Given the description of an element on the screen output the (x, y) to click on. 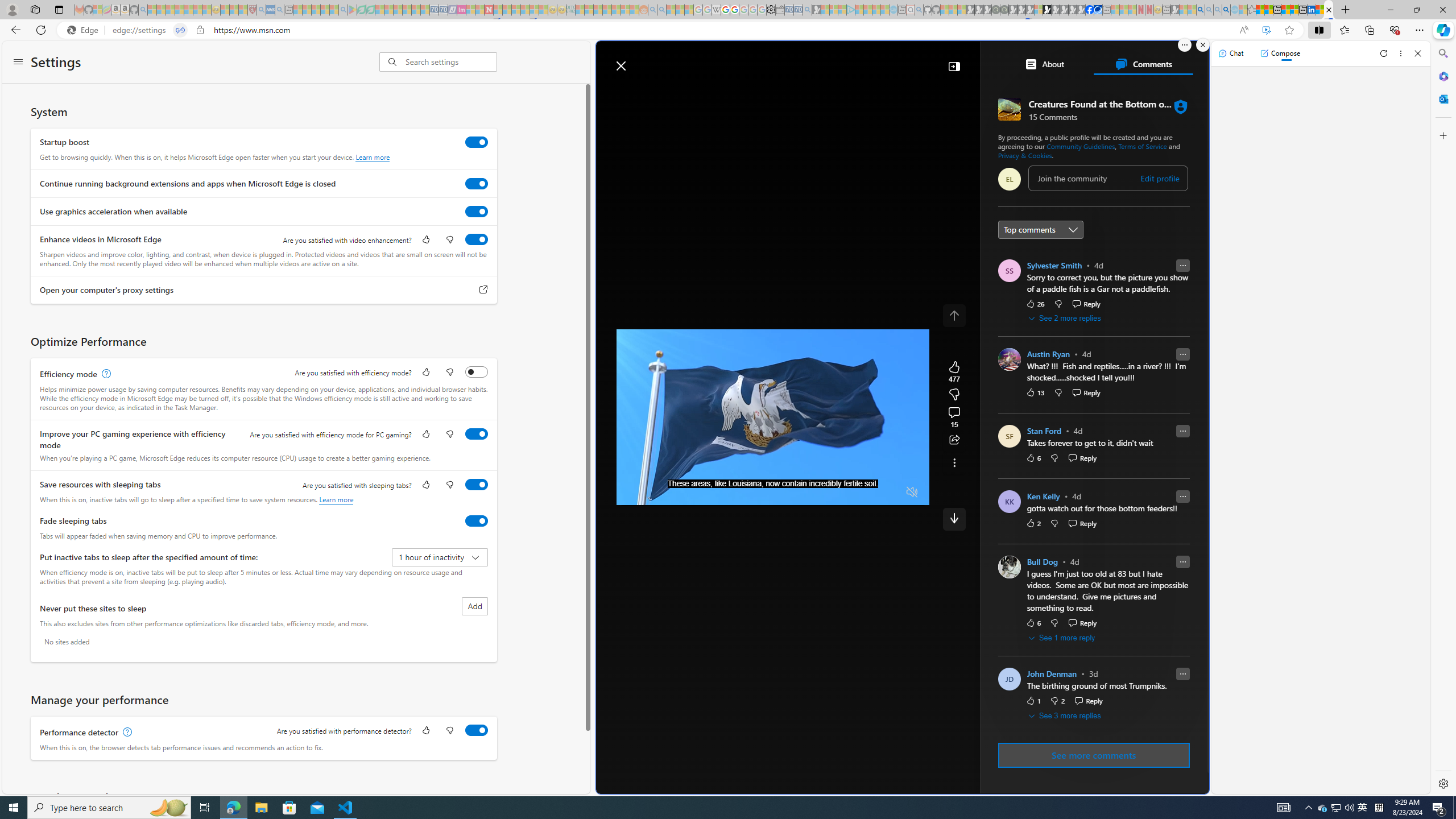
MSNBC - MSN - Sleeping (579, 9)
See more comments (1093, 755)
Terms of Service (1142, 145)
Watch (773, 92)
CNN (1037, 366)
Target page - Wikipedia - Sleeping (716, 9)
Fullscreen (890, 492)
Nordace | Facebook (1089, 9)
